Given the description of an element on the screen output the (x, y) to click on. 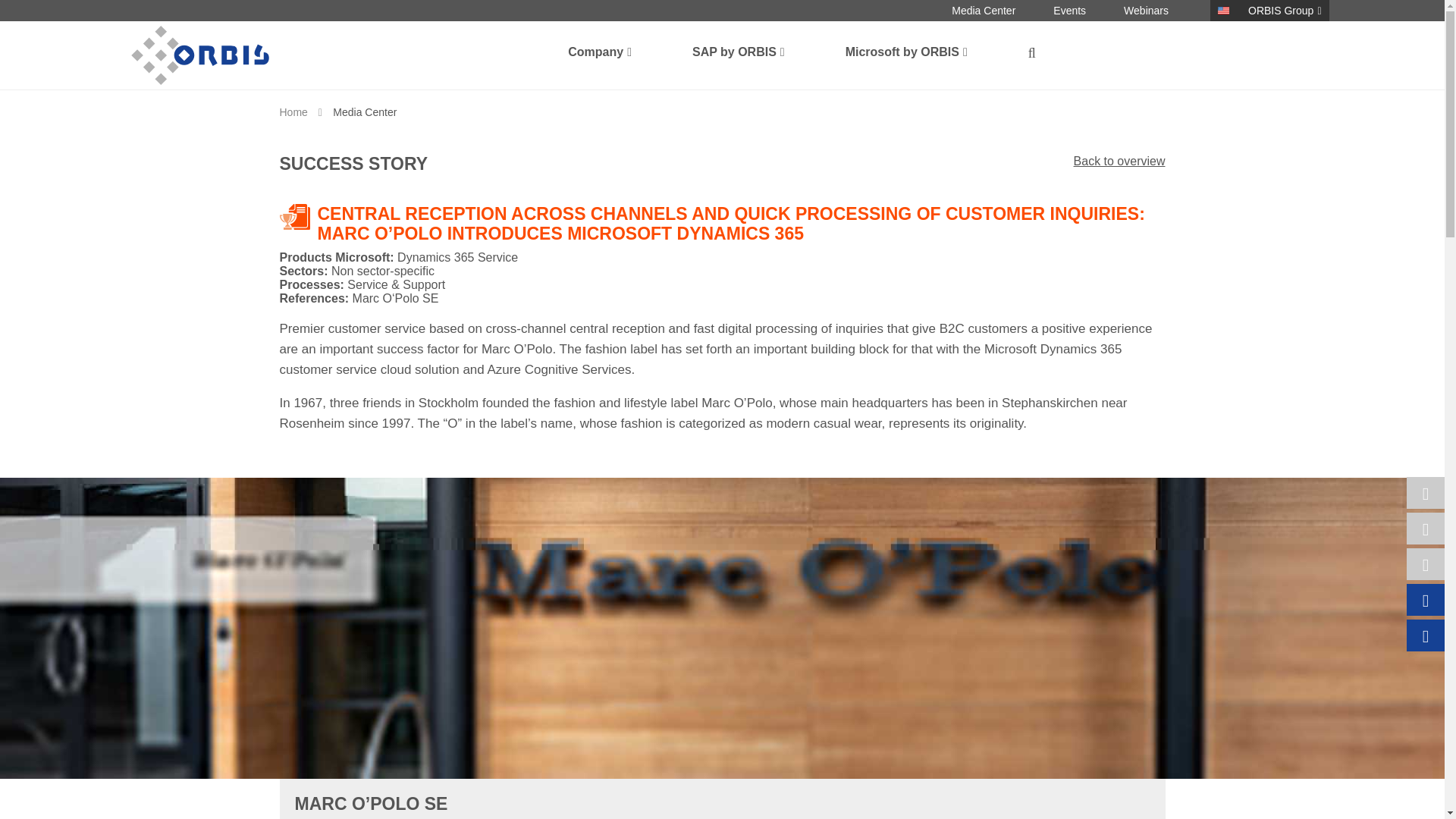
Microsoft by ORBIS (906, 55)
Media Center (983, 10)
ORBIS Group (1284, 10)
SAP by ORBIS (738, 55)
Webinars (1146, 10)
Company (599, 55)
Back to Media Center (1120, 160)
Events (1069, 10)
